Given the description of an element on the screen output the (x, y) to click on. 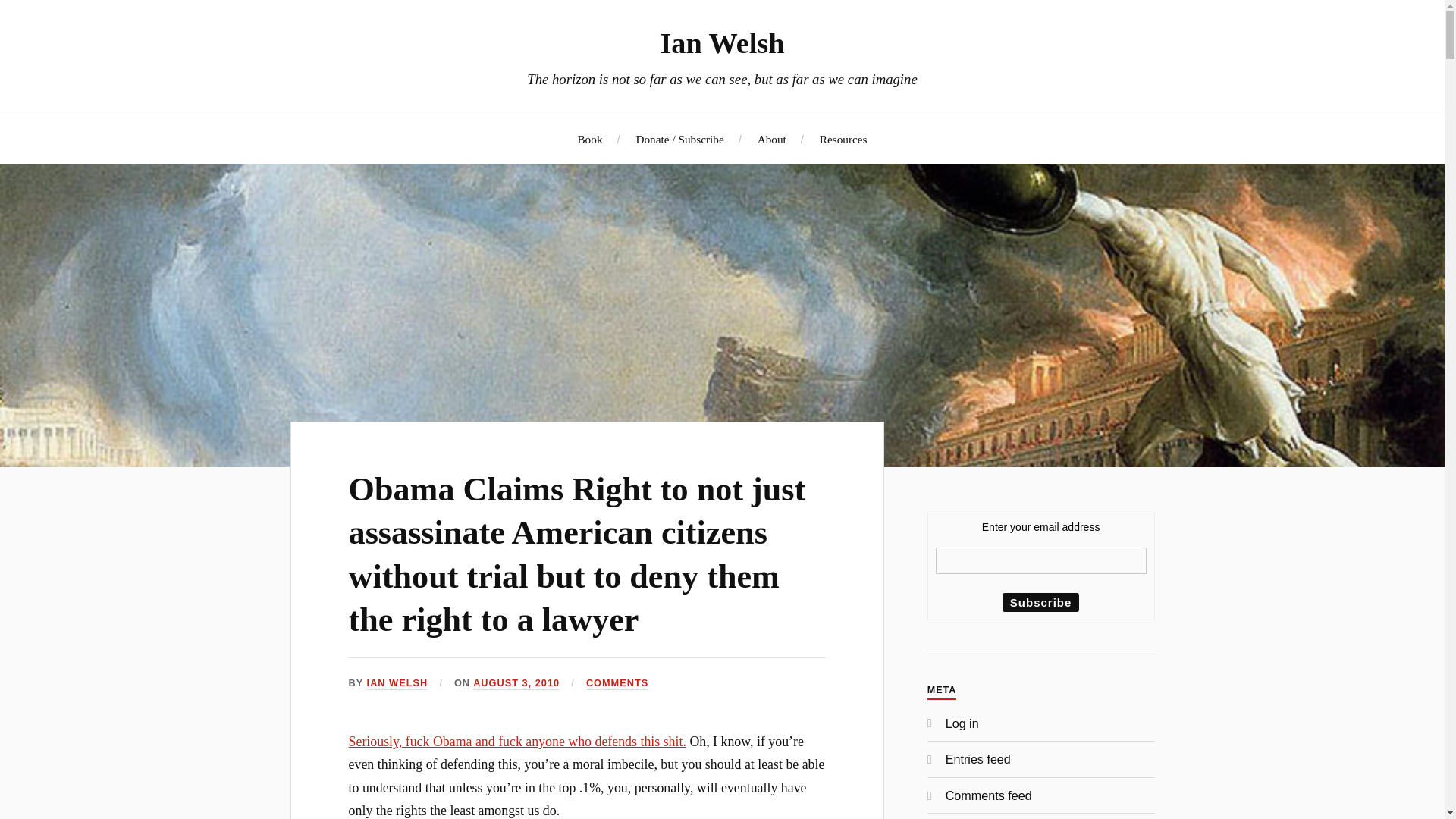
IAN WELSH (397, 683)
Resources (843, 138)
Subscribe (1041, 601)
AUGUST 3, 2010 (516, 683)
COMMENTS (616, 683)
Ian Welsh (721, 42)
Posts by Ian Welsh (397, 683)
Seriously, fuck Obama and fuck anyone who defends this shit. (517, 741)
